Given the description of an element on the screen output the (x, y) to click on. 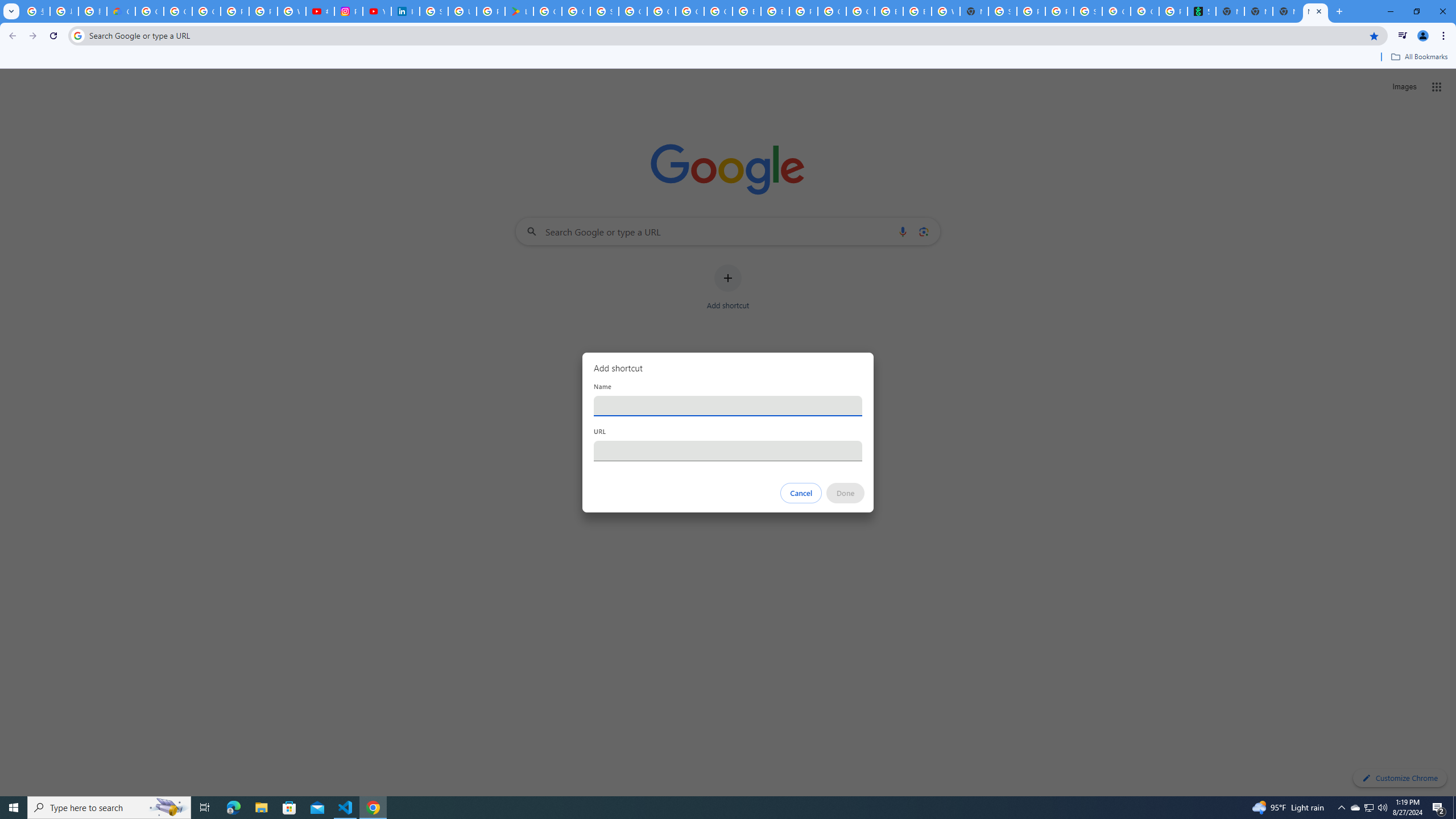
Sign in - Google Accounts (433, 11)
